Given the description of an element on the screen output the (x, y) to click on. 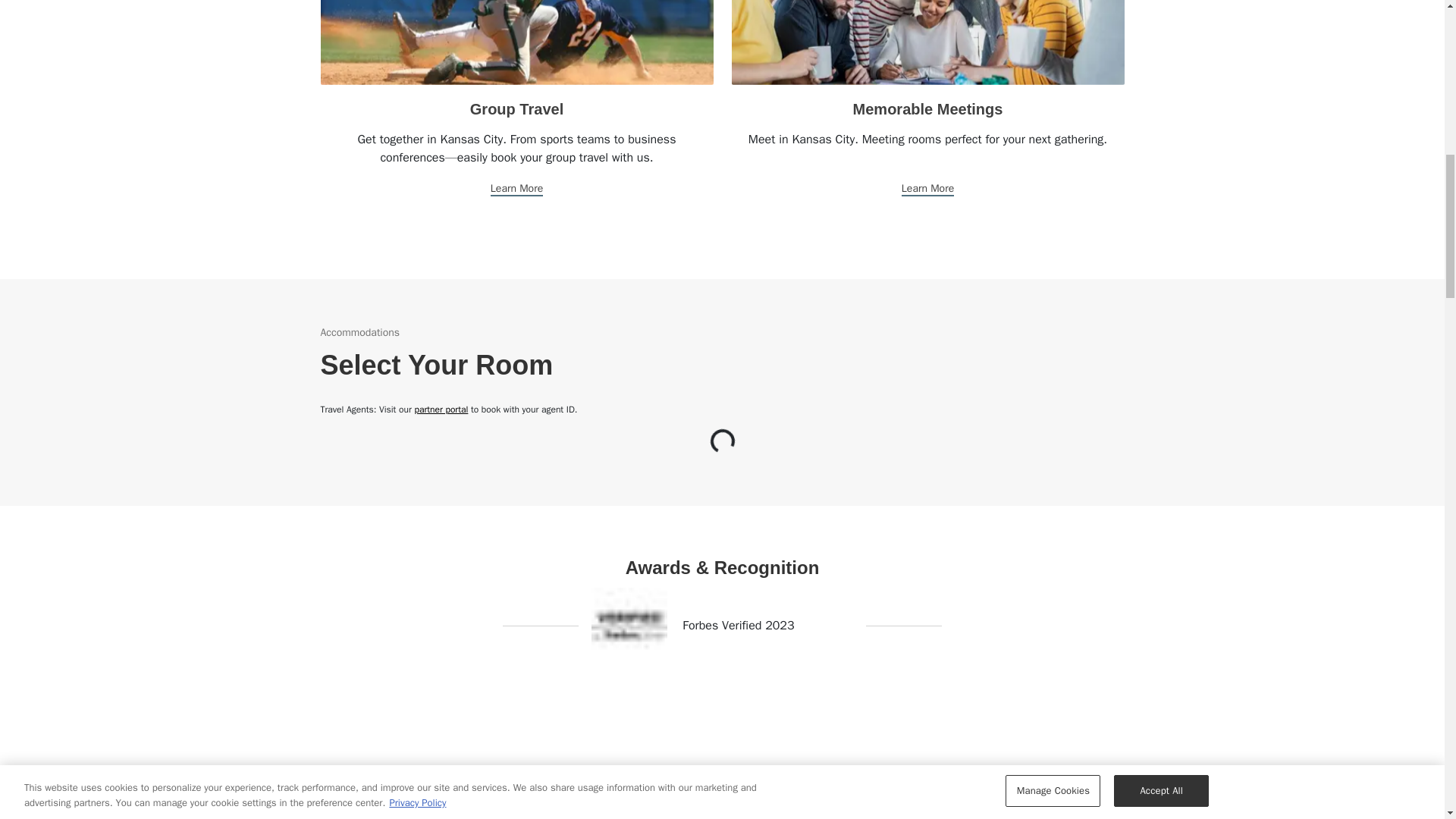
Learn More (927, 188)
Learn More (516, 188)
partner portal (440, 409)
